Given the description of an element on the screen output the (x, y) to click on. 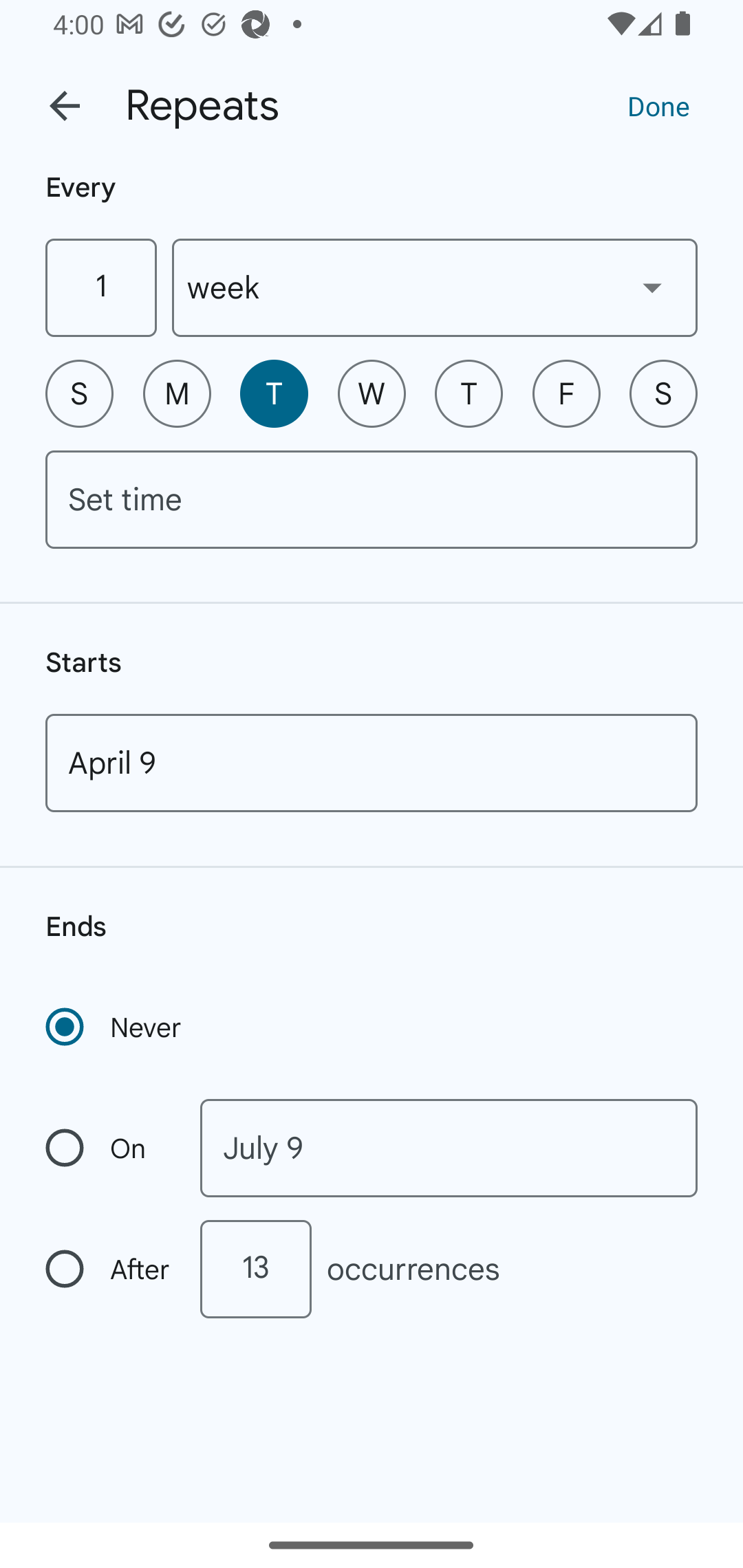
Back (64, 105)
Done (658, 105)
1 (100, 287)
week (434, 287)
Show dropdown menu (652, 286)
S Sunday (79, 393)
M Monday (177, 393)
T Tuesday, selected (273, 393)
W Wednesday (371, 393)
T Thursday (468, 393)
F Friday (566, 393)
S Saturday (663, 393)
Set time (371, 499)
April 9 (371, 762)
Never Recurrence never ends (115, 1026)
July 9 (448, 1148)
On Recurrence ends on a specific date (109, 1148)
13 (255, 1268)
